Given the description of an element on the screen output the (x, y) to click on. 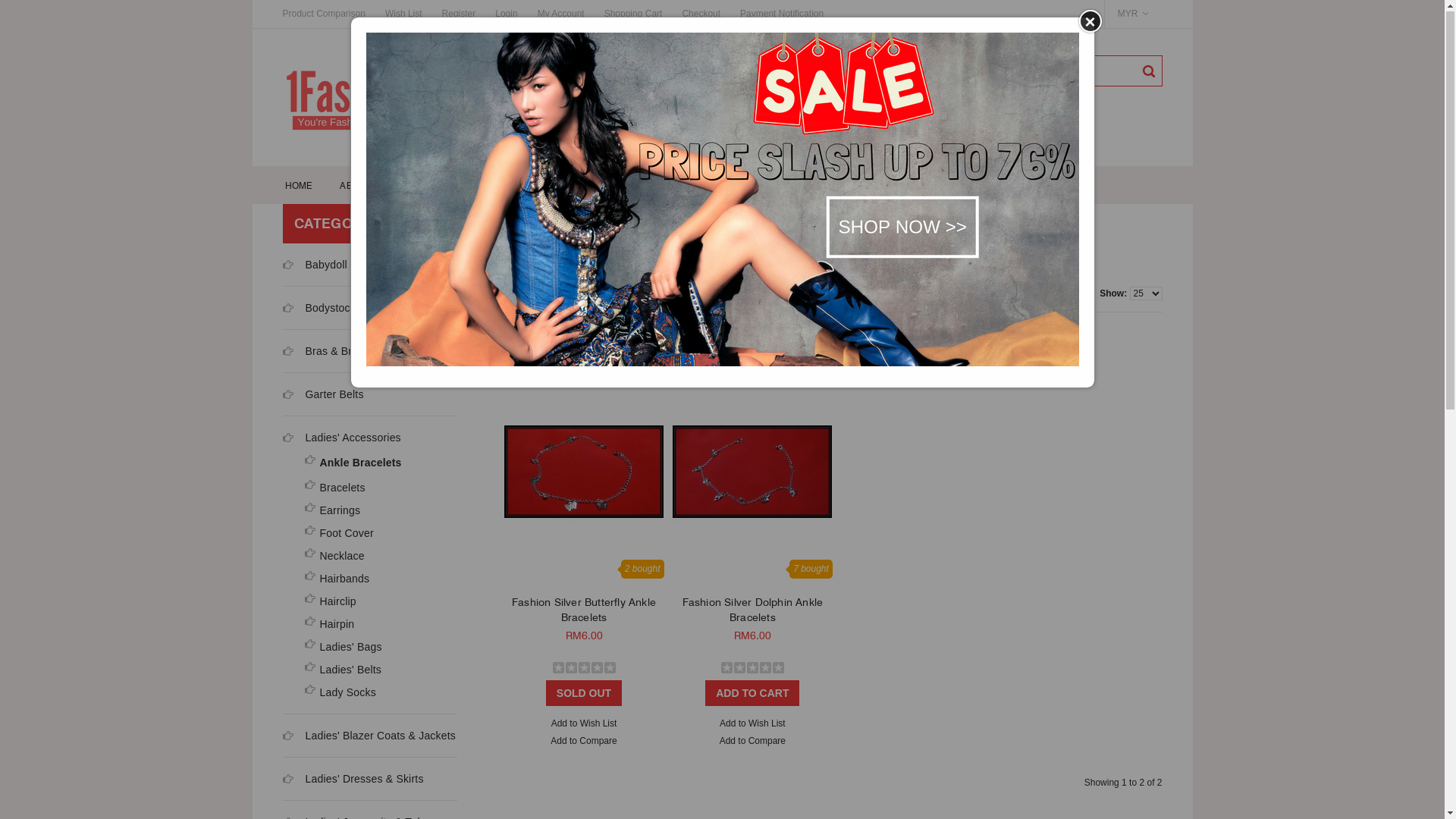
Ladies' Blazer Coats & Jackets Element type: text (379, 736)
List Element type: text (549, 296)
Add to Wish List Element type: text (752, 724)
INFORMATION Element type: text (816, 185)
Add to Compare Element type: text (583, 741)
My Account Element type: text (560, 14)
Necklace Element type: text (382, 556)
Register Element type: text (459, 14)
Ladies' Accessories Element type: text (352, 438)
Bras & Bra Sets Element type: text (343, 351)
Ladies' Belts Element type: text (382, 669)
ABOUT US Element type: text (363, 185)
COUPON - RM5 OFF Element type: text (459, 185)
TESTIMONIAL Element type: text (912, 185)
Ankle Bracelets Element type: text (382, 462)
2 bought Element type: text (583, 677)
Bodystockings Element type: text (339, 308)
Add to Wish List Element type: text (583, 724)
7 bought Element type: text (752, 677)
Fashion Silver Dolphin Ankle Bracelets Element type: hover (752, 472)
FREE SHIPPING = RM150* Element type: text (589, 185)
Wish List Element type: text (403, 14)
Product Compare (0) Element type: text (545, 328)
Lady Socks Element type: text (382, 692)
Hairpin Element type: text (382, 624)
Add to Cart Element type: text (752, 693)
Earrings Element type: text (382, 510)
Ladies' Accessories Element type: text (578, 223)
Payment Notification Element type: text (781, 14)
Product Comparison Element type: text (328, 14)
Bracelets Element type: text (382, 487)
Garter Belts Element type: text (333, 395)
Babydoll Element type: text (325, 265)
HOME Element type: text (298, 185)
1FashionHouse.com PLT Element type: hover (395, 99)
Checkout Element type: text (700, 14)
0 item(s) RM0.00 Element type: text (973, 62)
Ankle Bracelets Element type: text (658, 223)
Ladies' Bags Element type: text (382, 647)
Add to Compare Element type: text (752, 741)
Fashion Silver Butterfly Ankle Bracelets Element type: hover (583, 472)
Foot Cover Element type: text (382, 533)
REWARD POINTS Element type: text (715, 185)
Home Element type: text (515, 223)
Login Element type: text (506, 14)
Ladies' Dresses & Skirts Element type: text (363, 779)
Fashion Silver Butterfly Ankle Bracelets Element type: text (583, 610)
Hairbands Element type: text (382, 578)
Hairclip Element type: text (382, 601)
CONTACT US Element type: text (1000, 185)
Fashion Silver Dolphin Ankle Bracelets Element type: text (752, 610)
Shopping Cart Element type: text (633, 14)
